Given the description of an element on the screen output the (x, y) to click on. 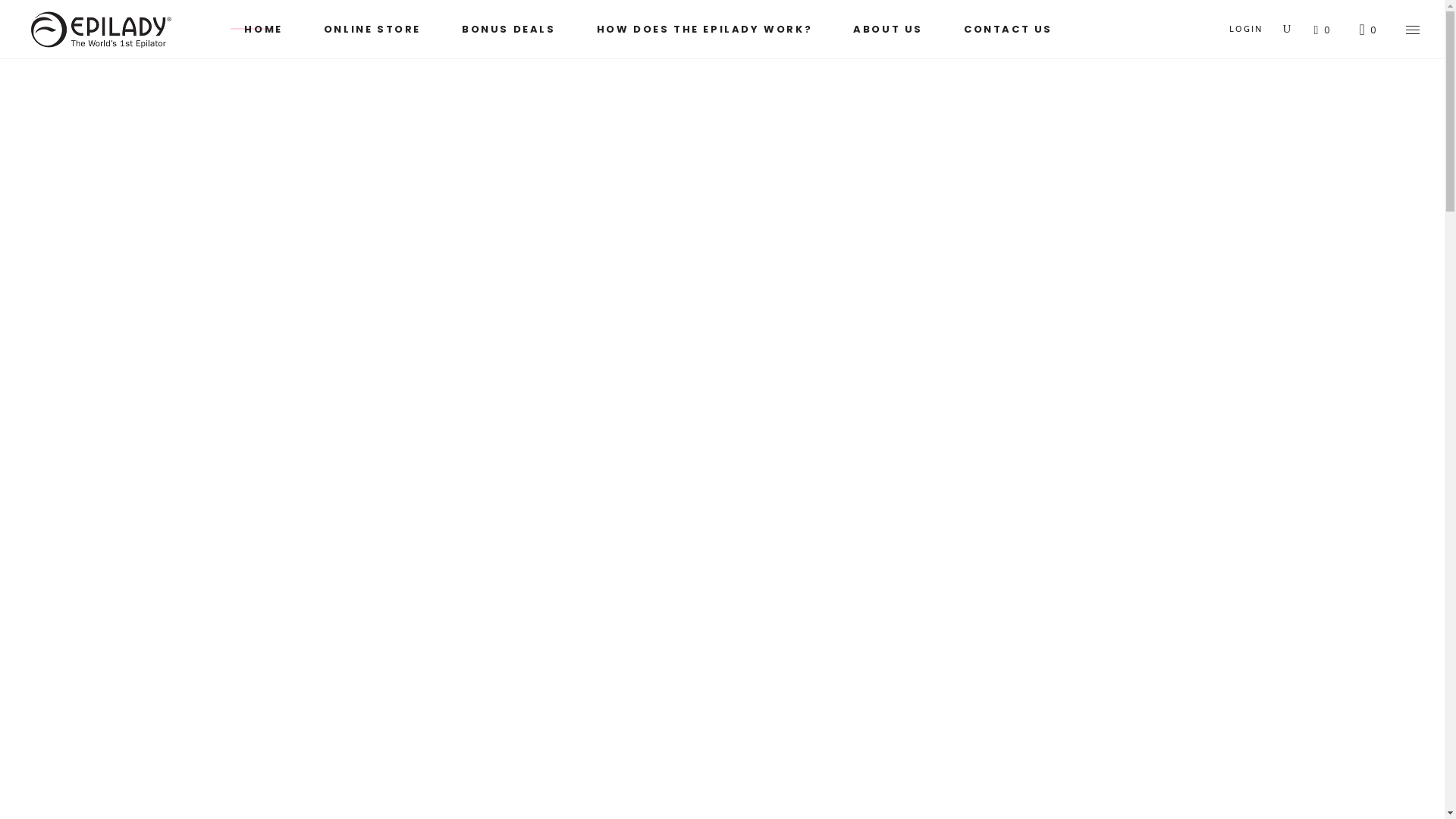
HOME Element type: text (262, 29)
+0414 651211 Element type: text (263, 586)
0 Element type: text (1321, 29)
CONTACT US Element type: text (1008, 29)
HOW DOES THE EPILADY WORK? Element type: text (704, 29)
My account Element type: text (510, 604)
info@dashdistributors.com.au Element type: text (306, 658)
Privacy Policy Element type: text (768, 625)
Email Element type: hover (1100, 612)
LOGIN Element type: text (1246, 28)
ABOUT US Element type: text (887, 29)
BONUS DEALS Element type: text (508, 29)
Contact Us Element type: text (761, 604)
Read our Privacy Policy. Element type: text (1132, 681)
Our Story Element type: text (758, 584)
Subscribe! Element type: text (1019, 719)
ONLINE STORE Element type: text (372, 29)
Send Element type: text (689, 465)
Epilady Australia Delivery Element type: text (546, 584)
0 Element type: text (1367, 29)
